Given the description of an element on the screen output the (x, y) to click on. 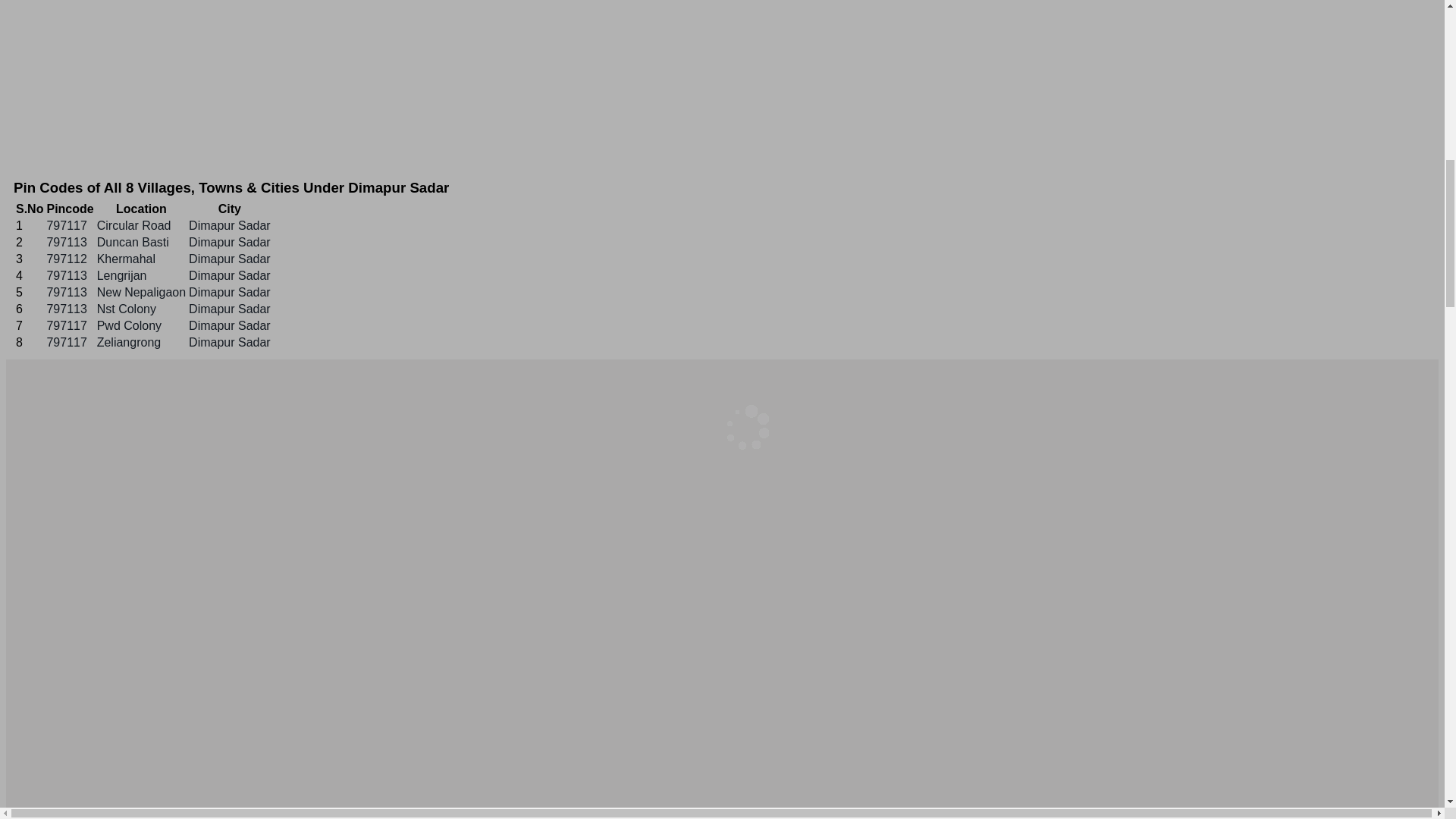
Dimapur Sadar (229, 275)
Pwd Colony (129, 325)
Dimapur Sadar (229, 308)
Dimapur (134, 225)
Dimapur Sadar (229, 325)
Dimapur (122, 275)
Circular Road (134, 225)
Dimapur (126, 308)
Khermahal (126, 258)
Dimapur Sadar (229, 258)
Duncan Basti (132, 241)
New Nepaligaon (141, 291)
Dimapur (126, 258)
797112 (65, 258)
Dimapur (129, 341)
